Given the description of an element on the screen output the (x, y) to click on. 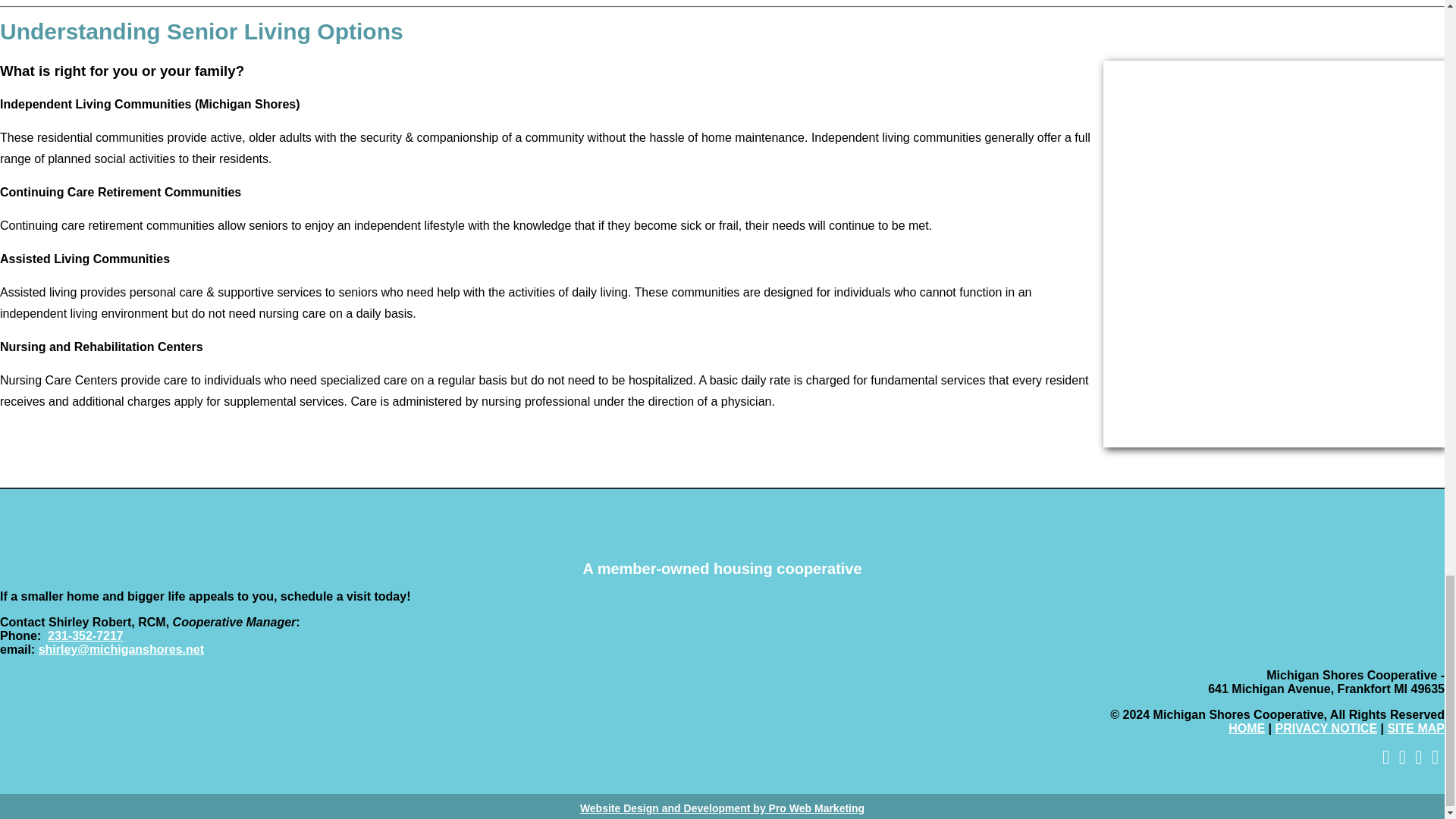
Website Designed by Pro Web Marketing (721, 808)
Home (1246, 727)
Privacy Notice (1326, 727)
